Given the description of an element on the screen output the (x, y) to click on. 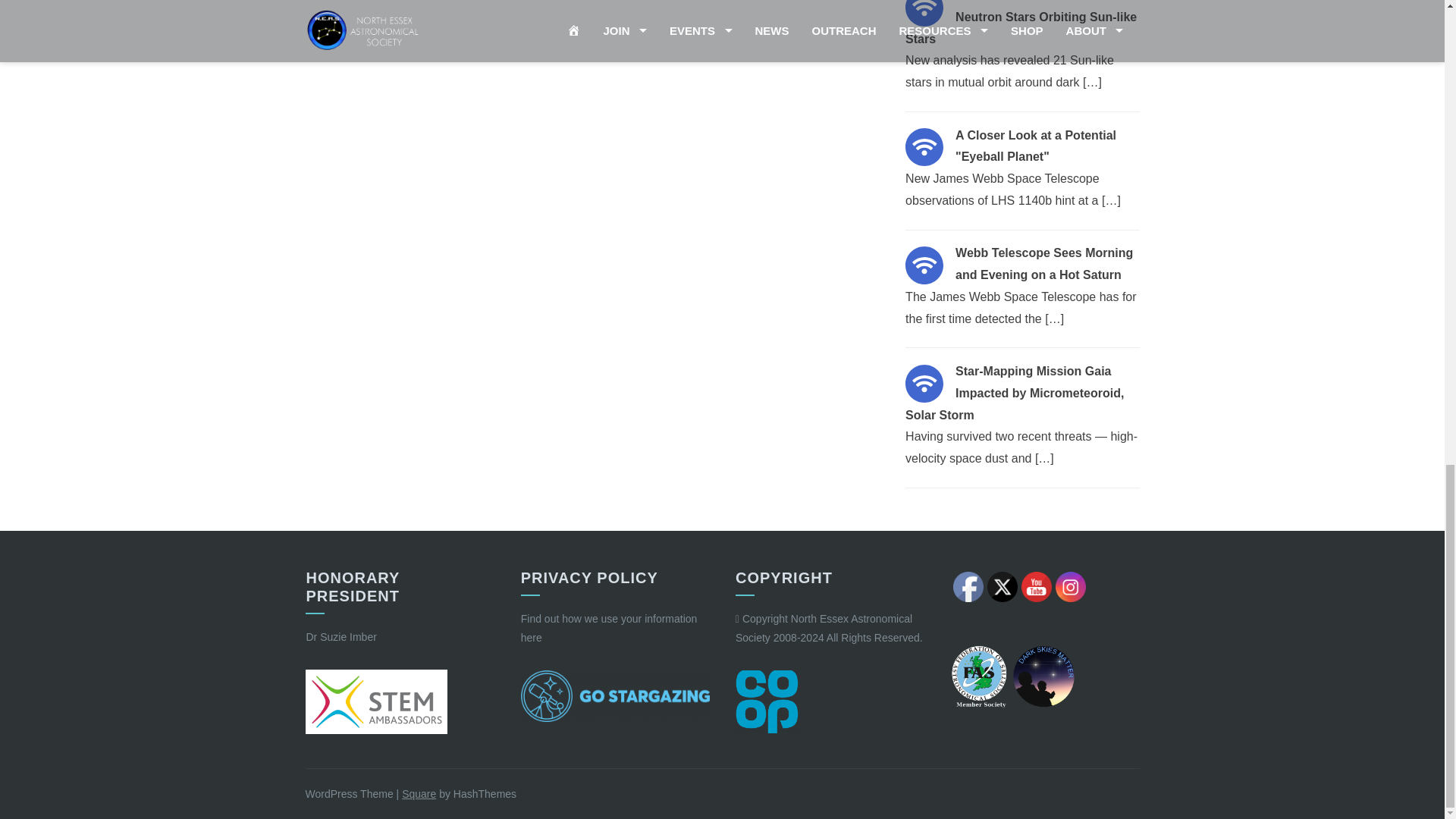
Twitter (1002, 586)
Facebook (968, 586)
Webb Telescope Sees Morning and Evening on a Hot Saturn (924, 265)
A Closer Look at a Potential "Eyeball Planet" (924, 146)
